Given the description of an element on the screen output the (x, y) to click on. 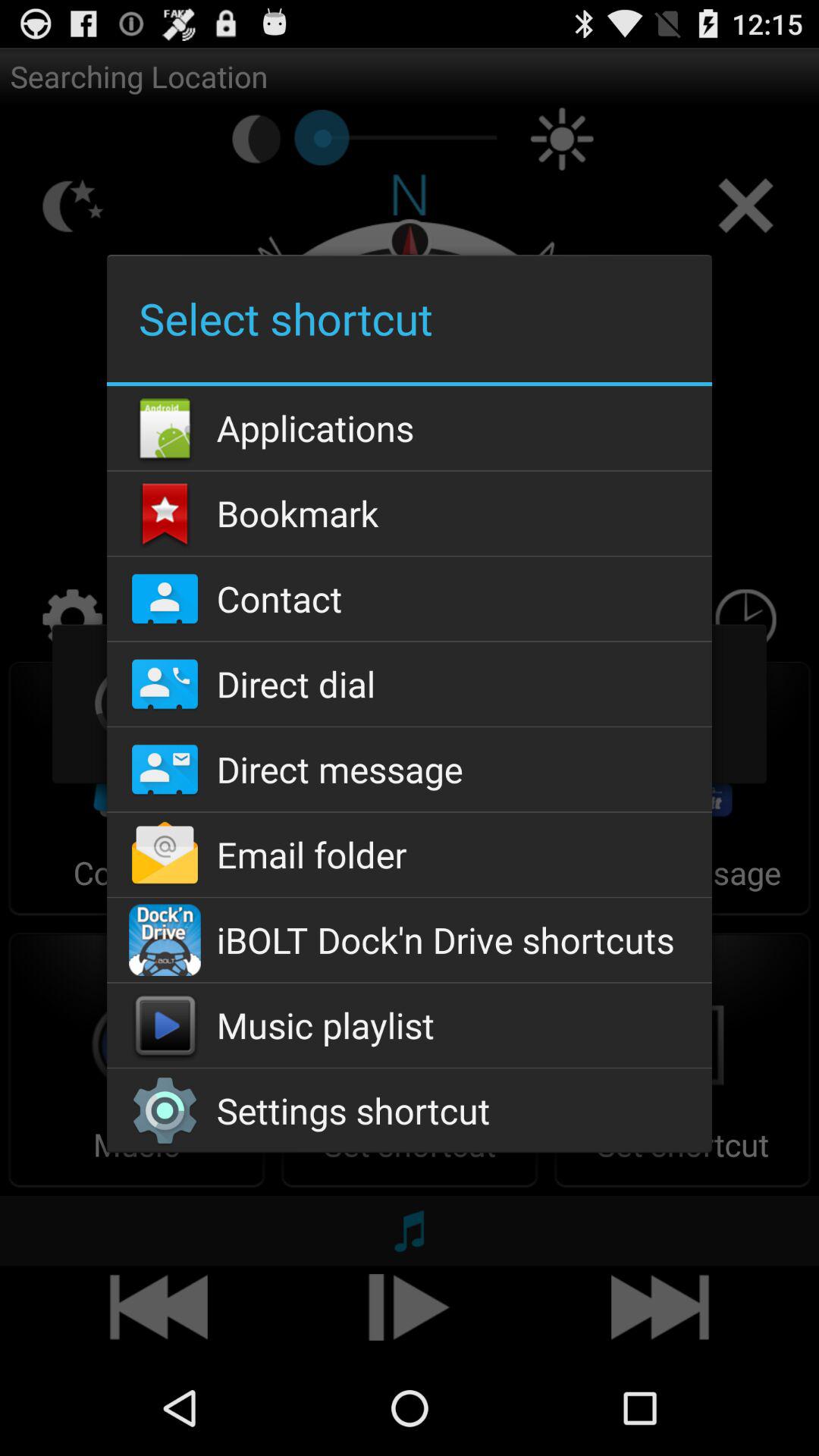
scroll to the music playlist item (409, 1025)
